Given the description of an element on the screen output the (x, y) to click on. 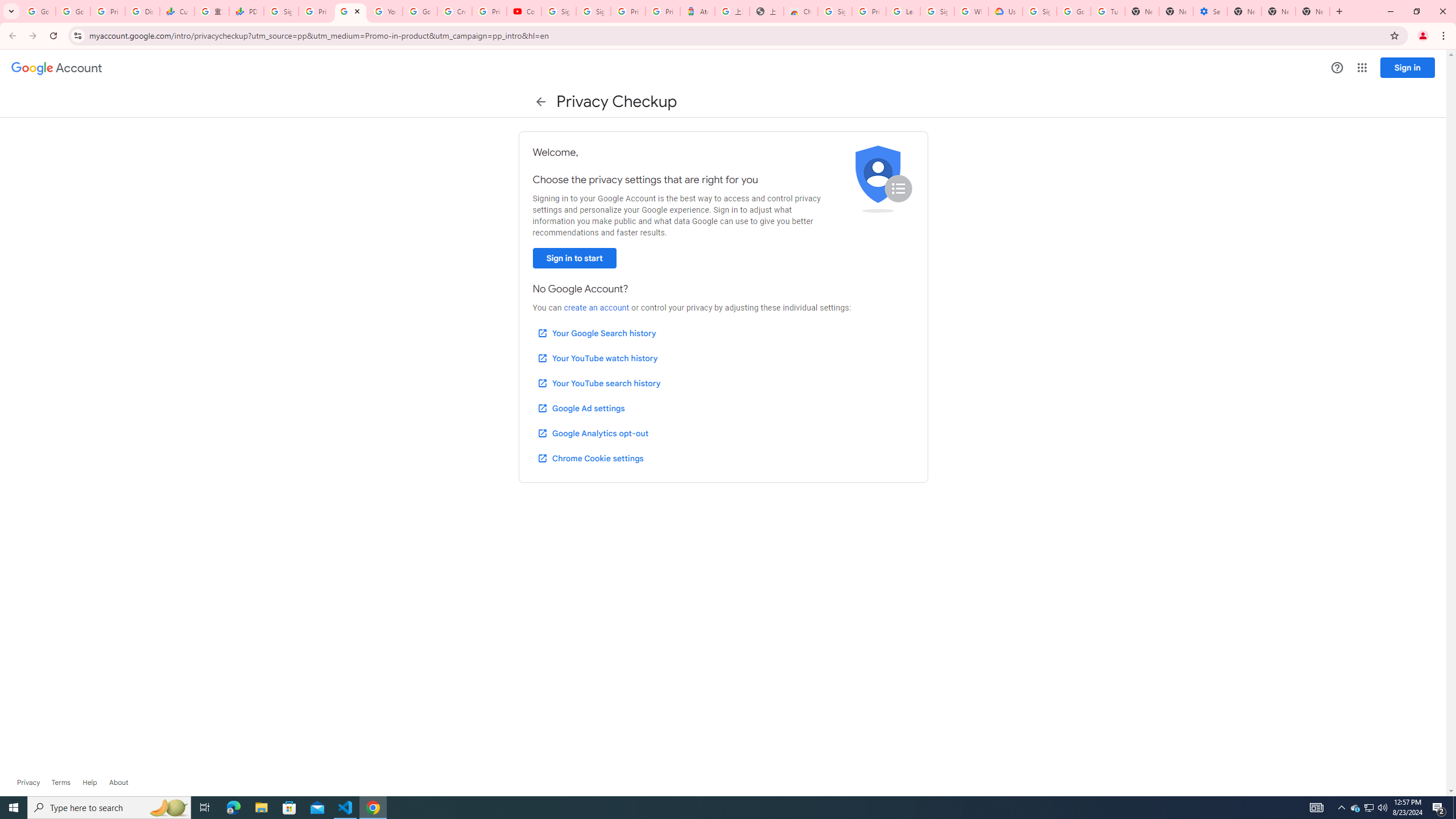
Google Ad settings (580, 408)
Sign in - Google Accounts (937, 11)
Learn more about Google Account (118, 782)
Create your Google Account (454, 11)
PDD Holdings Inc - ADR (PDD) Price & News - Google Finance (246, 11)
Google Account settings (56, 68)
